Given the description of an element on the screen output the (x, y) to click on. 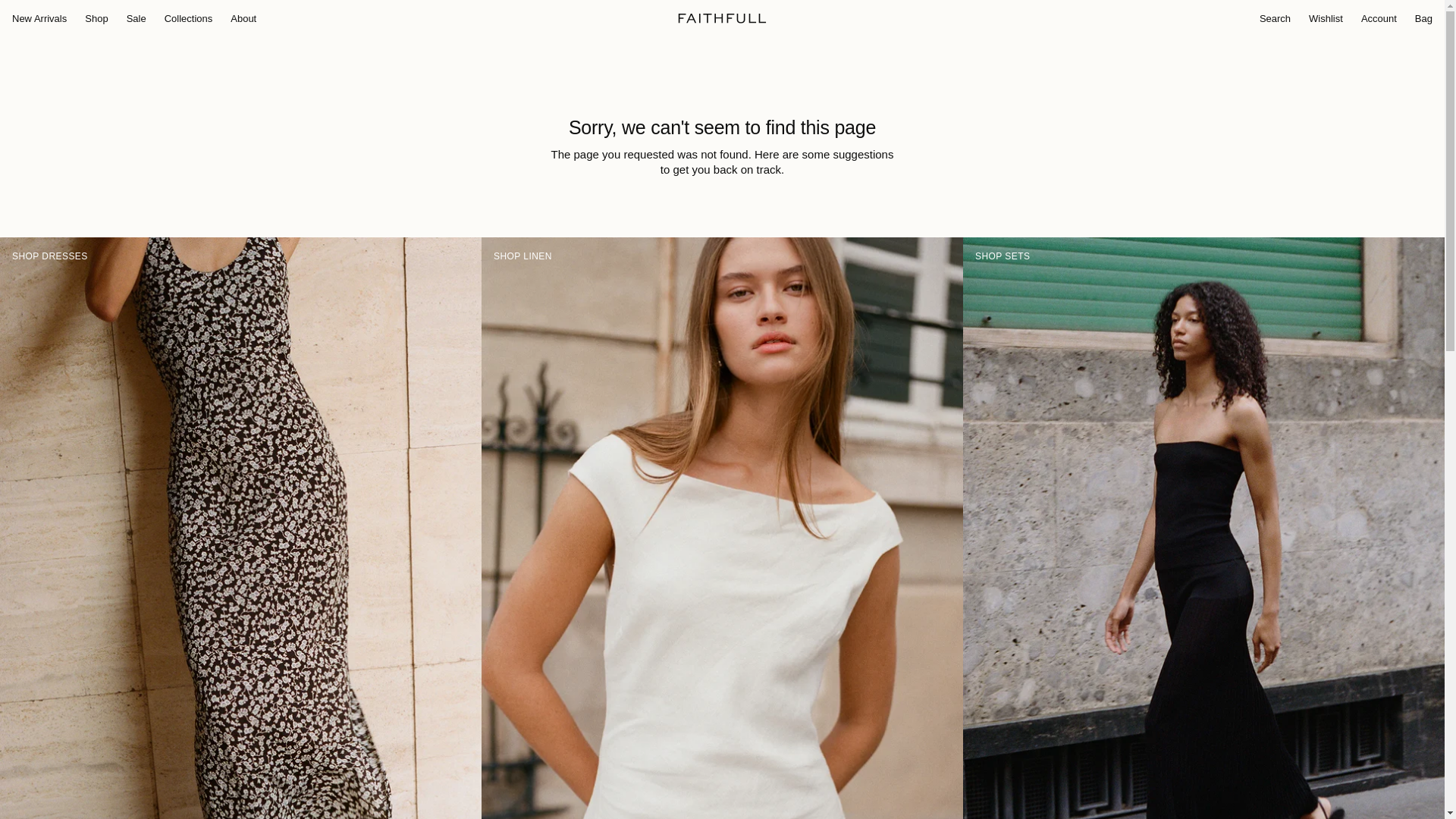
Shop (95, 19)
New Arrivals (38, 19)
